Given the description of an element on the screen output the (x, y) to click on. 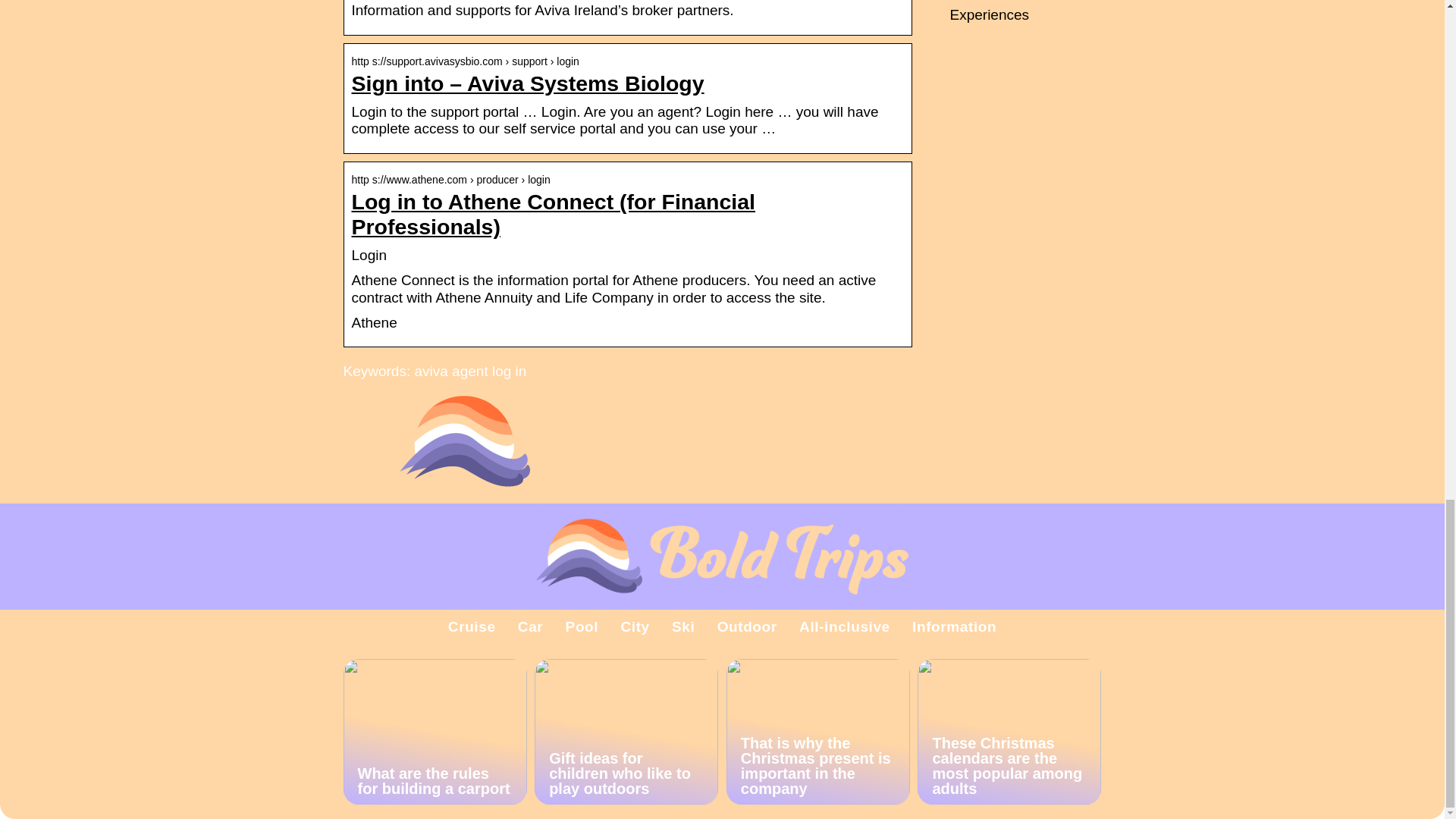
Cruise (472, 626)
Pool (582, 626)
What are the rules for building a carport (433, 731)
Explore the World: Tips for the Best Travel Experiences (1023, 11)
Information (953, 626)
City (634, 626)
Outdoor (747, 626)
Ski (682, 626)
Car (530, 626)
All-inclusive (844, 626)
